Given the description of an element on the screen output the (x, y) to click on. 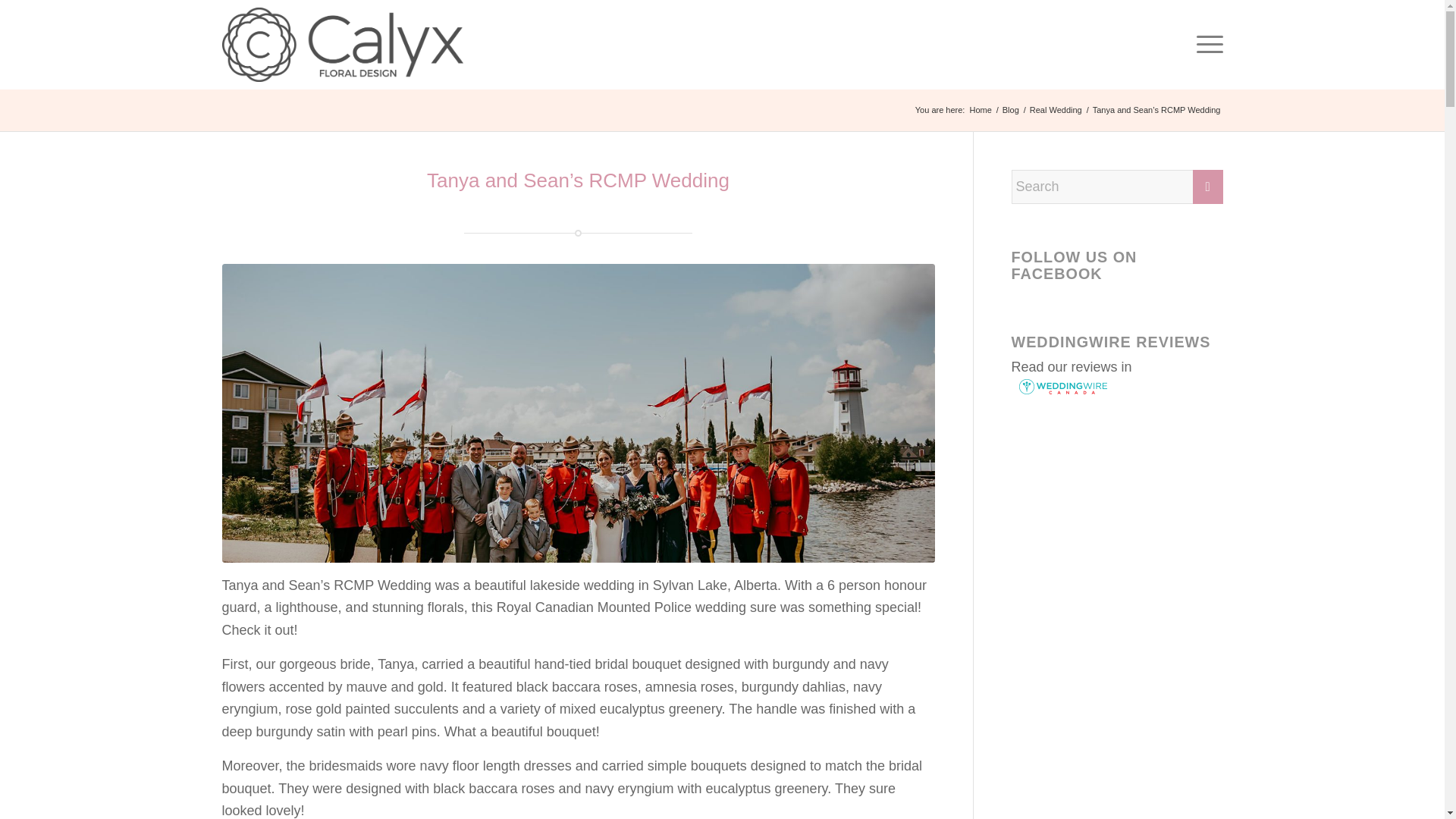
Real Wedding (1055, 110)
CalyxLogo (342, 44)
Blog (1011, 110)
our reviews (1083, 366)
Blog (1011, 110)
Home (979, 110)
Calyx Floral Design (979, 110)
